Given the description of an element on the screen output the (x, y) to click on. 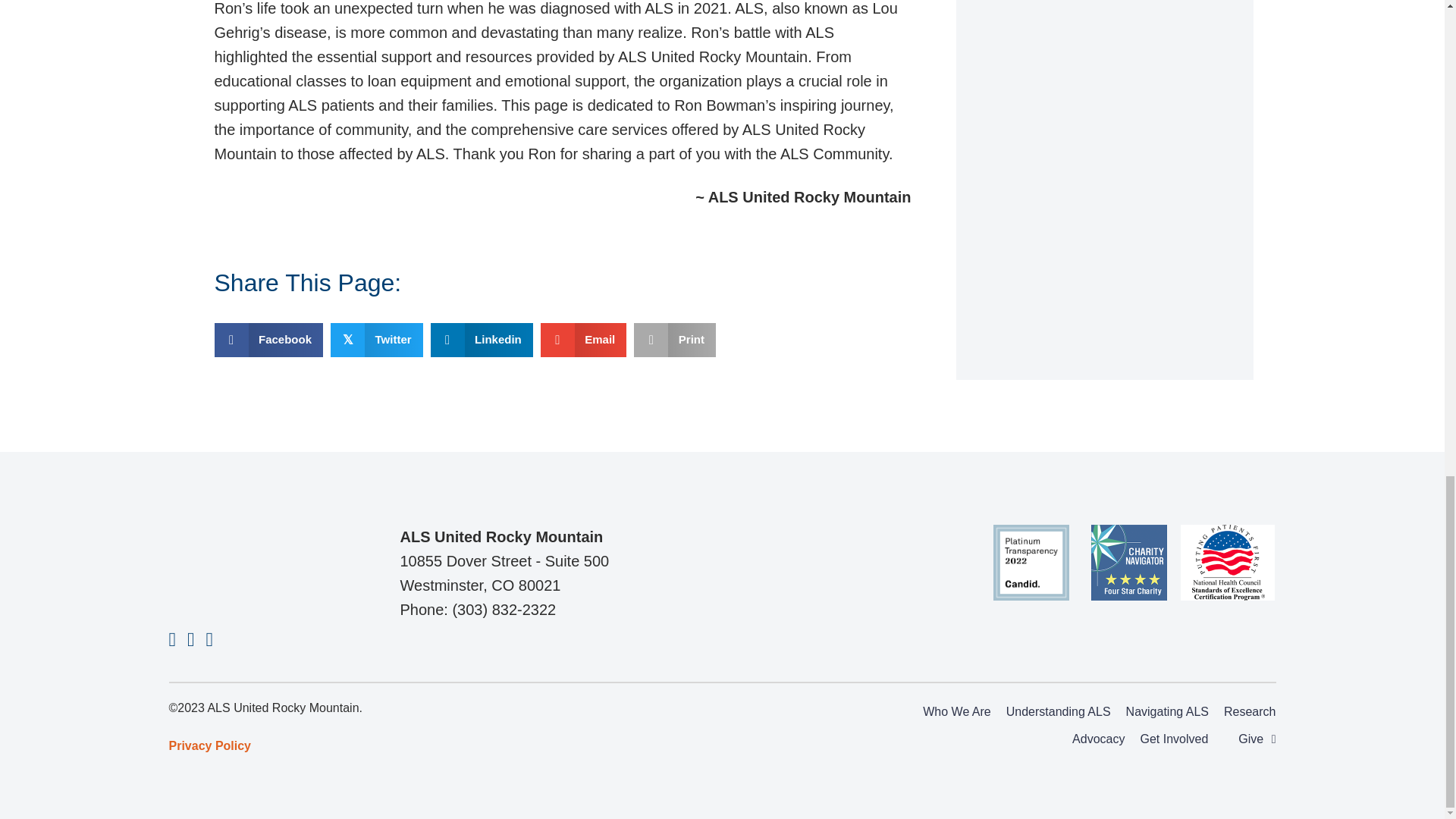
ALS01 Identity Rocky Mountain RGB M091523 (244, 558)
